Given the description of an element on the screen output the (x, y) to click on. 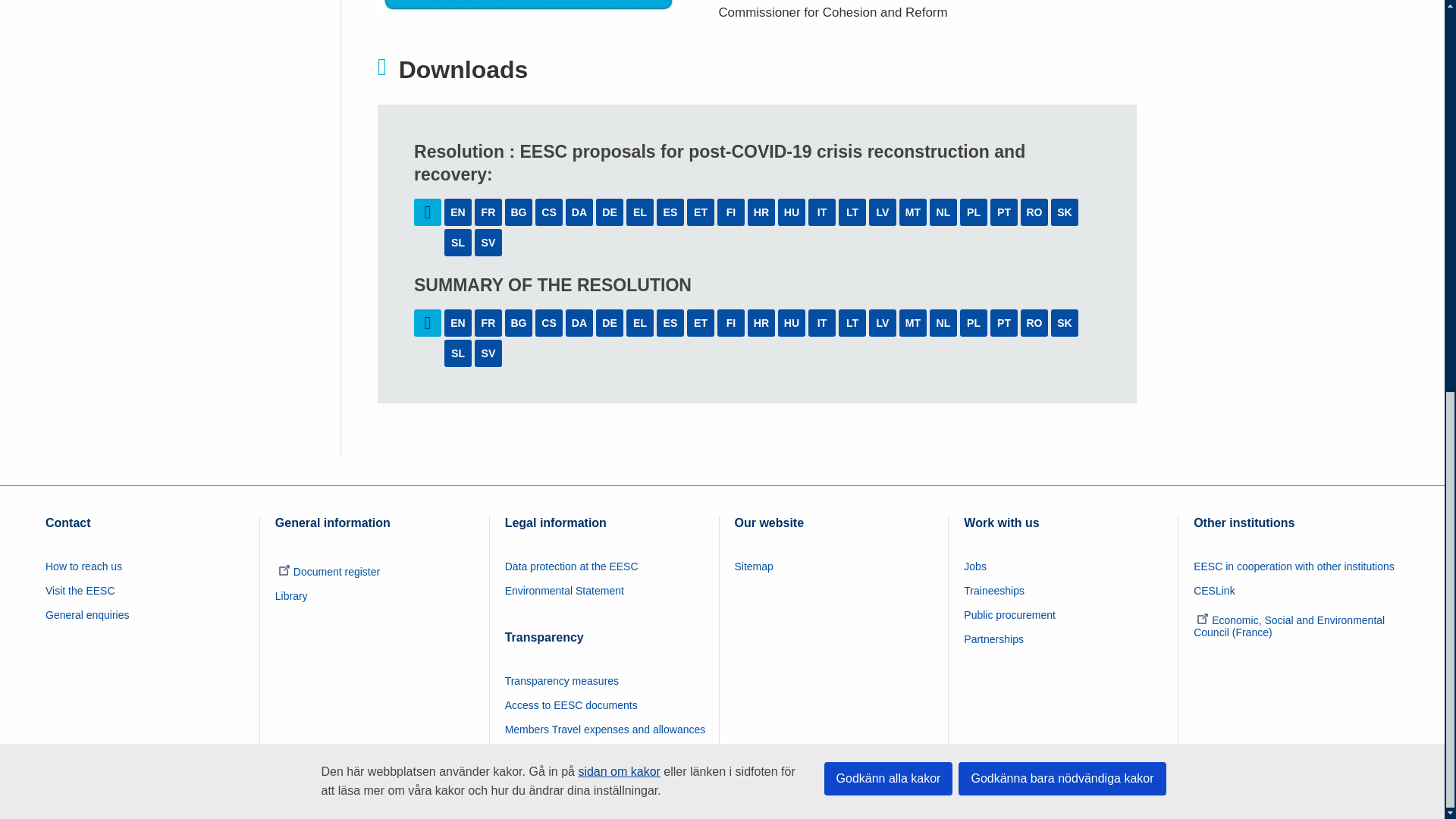
sidan om kakor (619, 20)
